Given the description of an element on the screen output the (x, y) to click on. 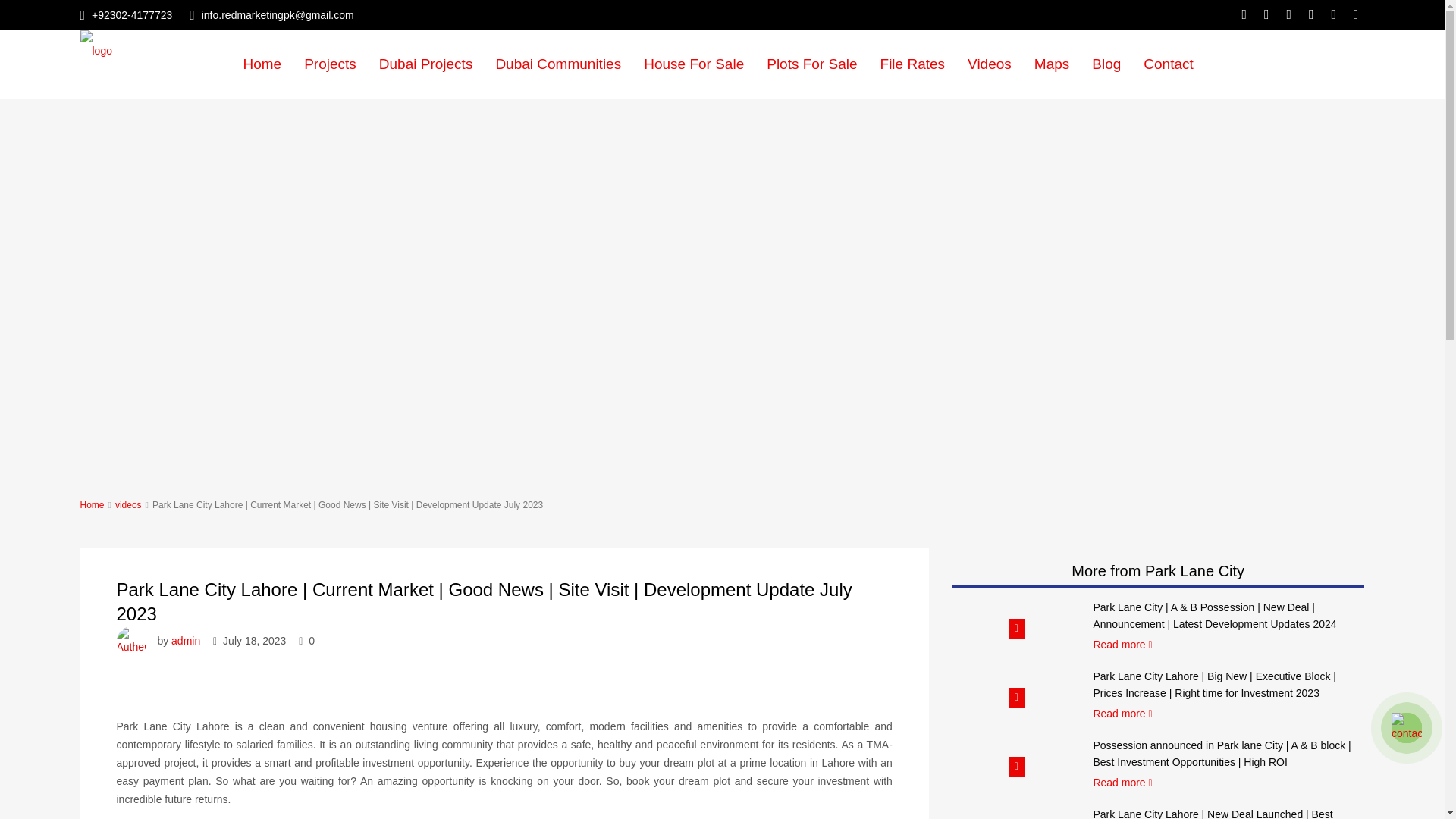
File Rates (912, 64)
House For Sale (693, 64)
Dubai Communities (557, 64)
Home (92, 504)
admin (185, 640)
videos (128, 504)
Projects (330, 64)
Home (262, 64)
Videos (989, 64)
Plots For Sale (811, 64)
Dubai Projects (426, 64)
Contact (1168, 64)
